Given the description of an element on the screen output the (x, y) to click on. 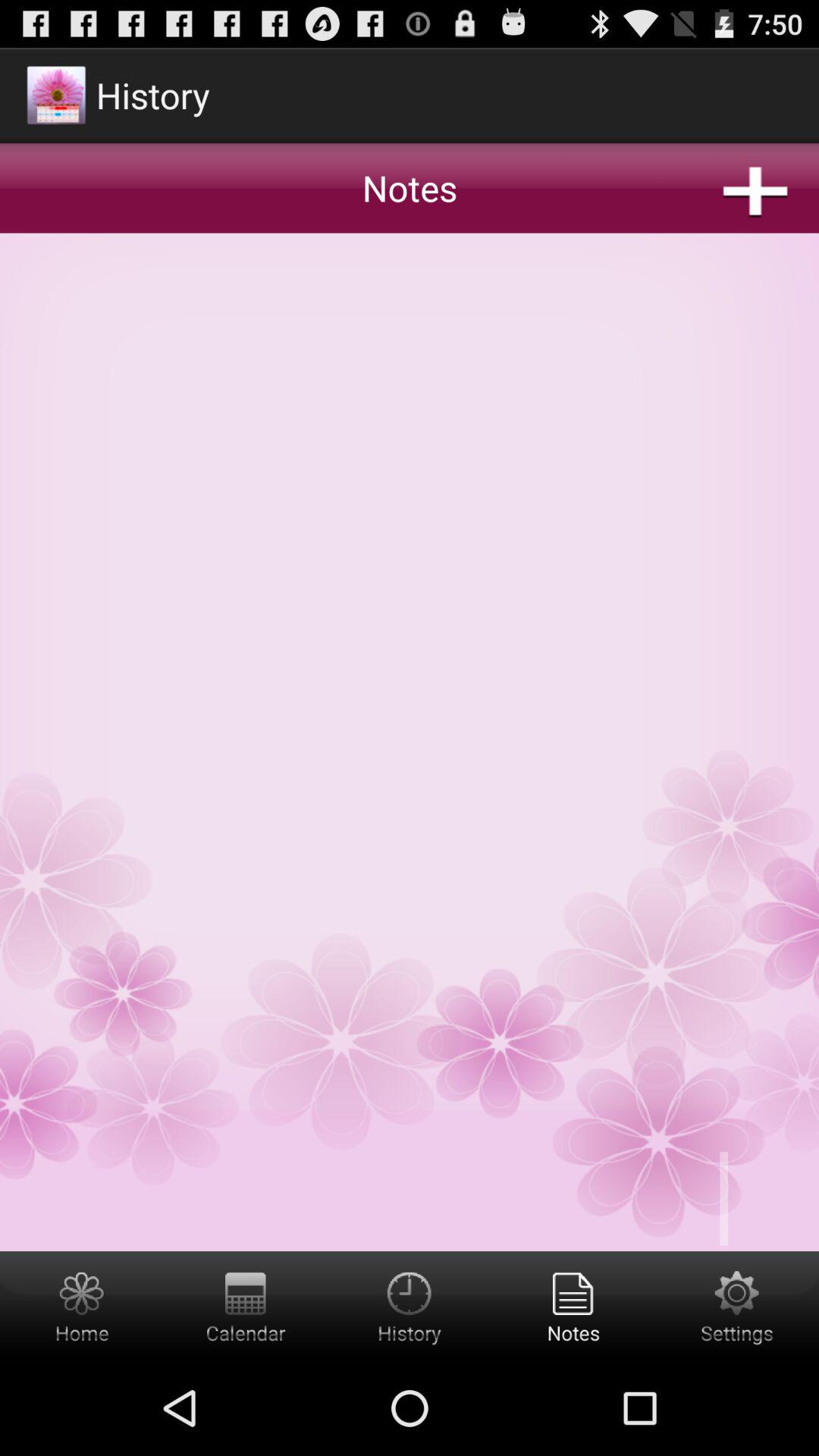
add new note (409, 647)
